Given the description of an element on the screen output the (x, y) to click on. 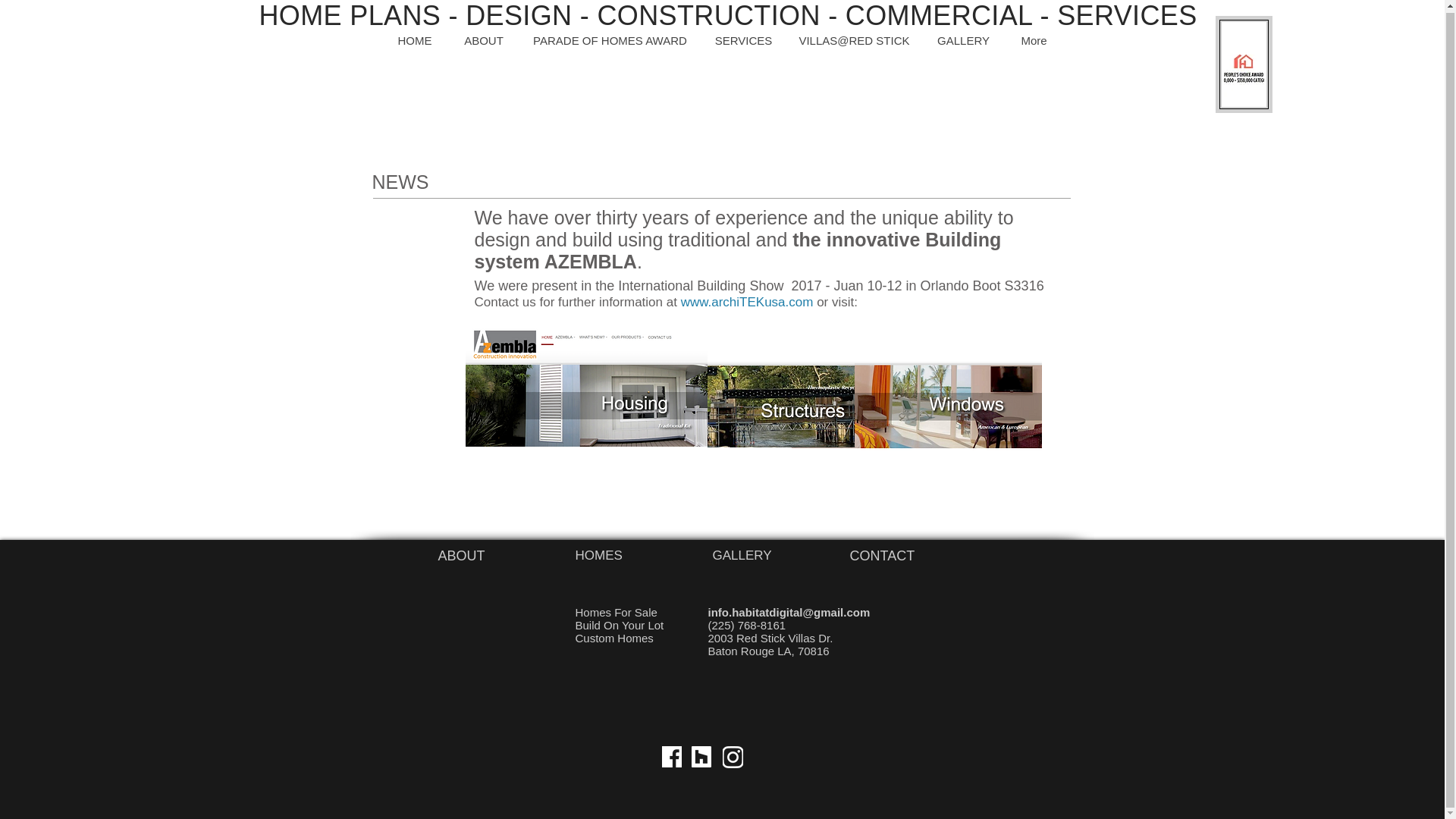
HOMES (598, 554)
www.archiTEKusa.com (747, 301)
PARADE OF HOMES AWARD (609, 38)
Homes For Sale (615, 612)
CONTACT (881, 555)
HOME (414, 38)
GALLERY (742, 554)
ABOUT (482, 38)
Build On Your Lot (619, 625)
GALLERY (962, 38)
